Given the description of an element on the screen output the (x, y) to click on. 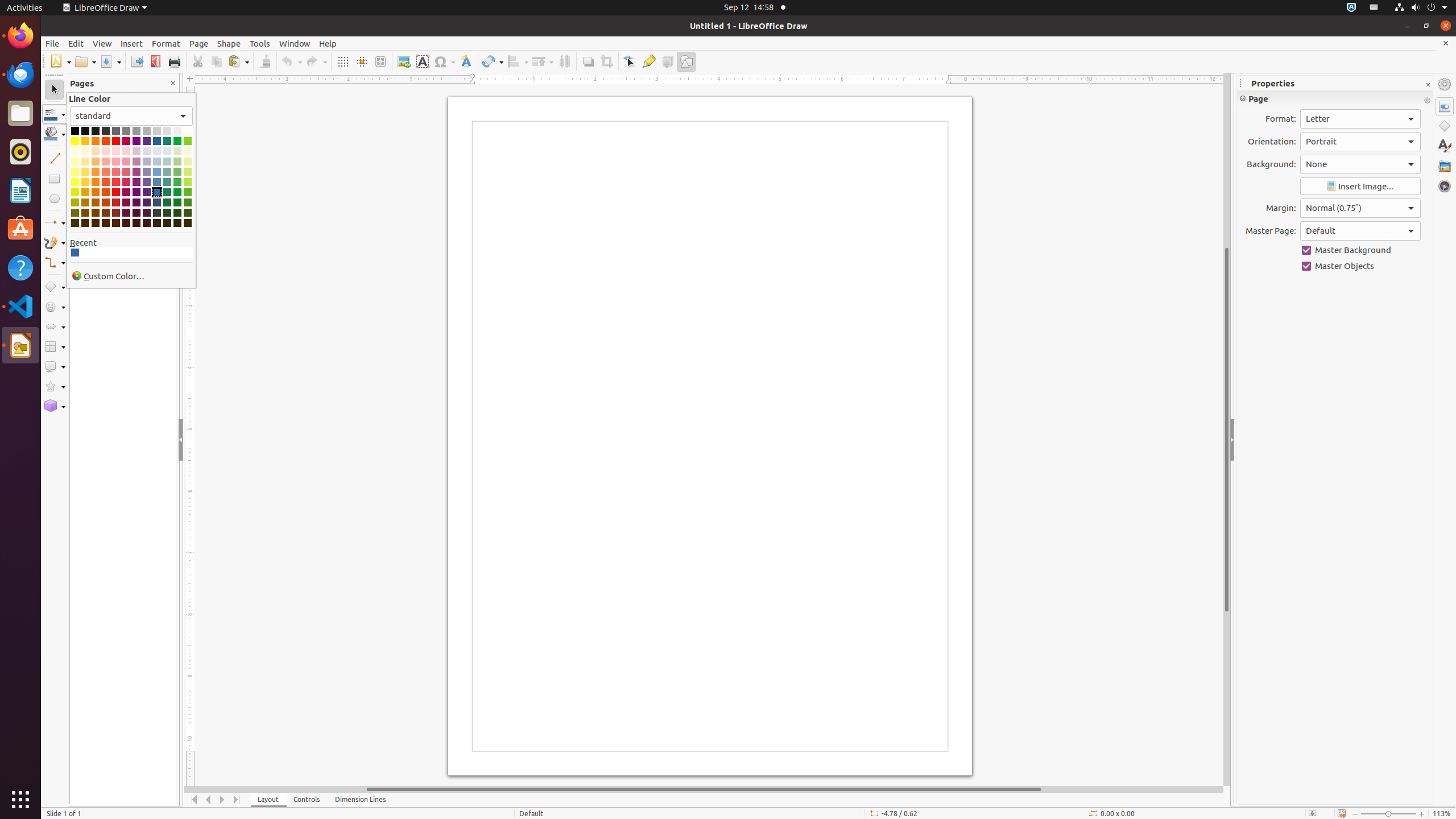
Light Blue 3 Element type: list-item (156, 161)
Move Left Element type: push-button (208, 799)
Dark Yellow 4 Element type: list-item (74, 222)
Dark Red 2 Element type: list-item (115, 202)
Ellipse Element type: push-button (53, 198)
